Given the description of an element on the screen output the (x, y) to click on. 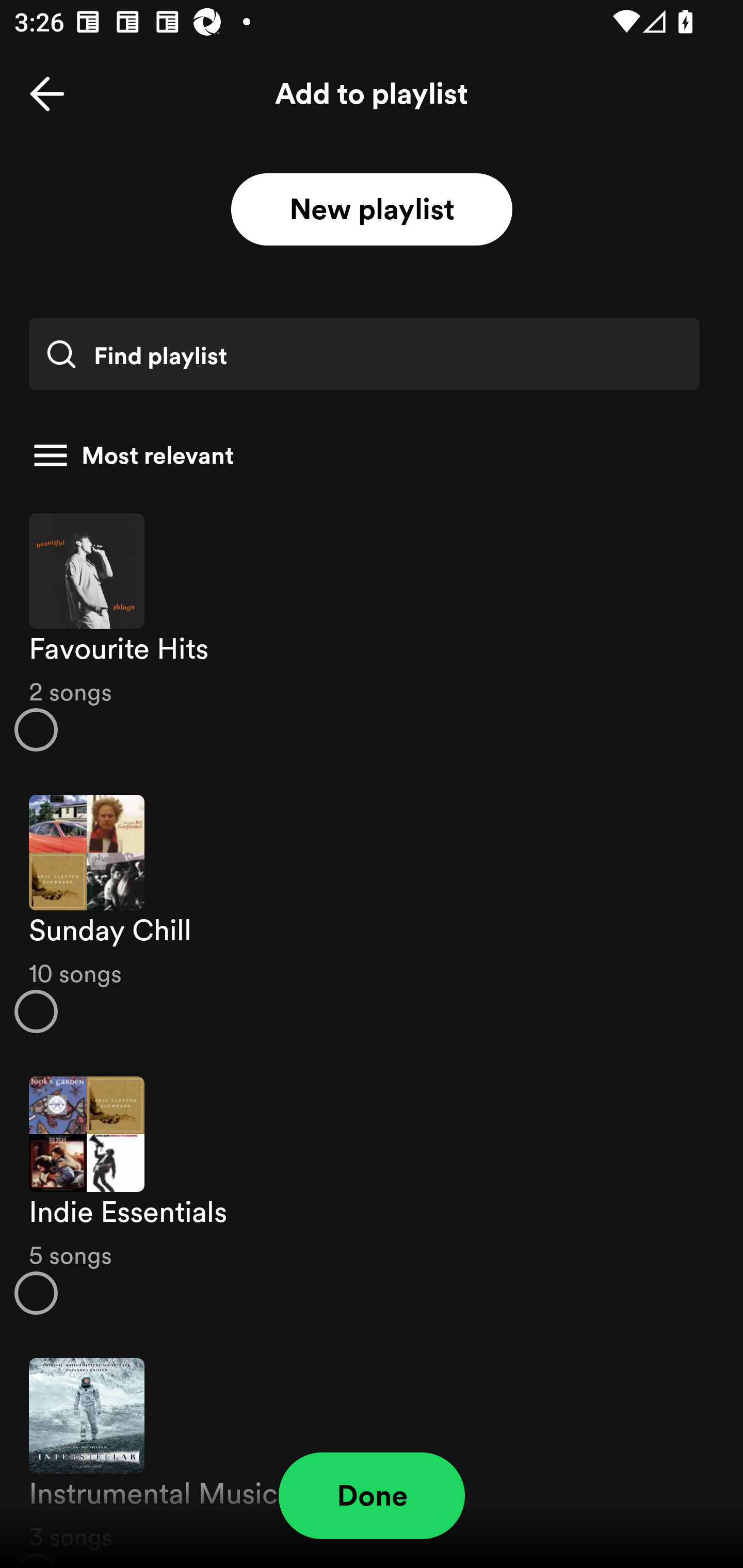
Back (46, 93)
New playlist (371, 210)
Find playlist (363, 354)
Most relevant (363, 455)
Favourite Hits 2 songs (371, 631)
Sunday Chill 10 songs (371, 914)
Indie Essentials 5 songs (371, 1195)
Instrumental Music 3 songs (371, 1451)
Done (371, 1495)
